Given the description of an element on the screen output the (x, y) to click on. 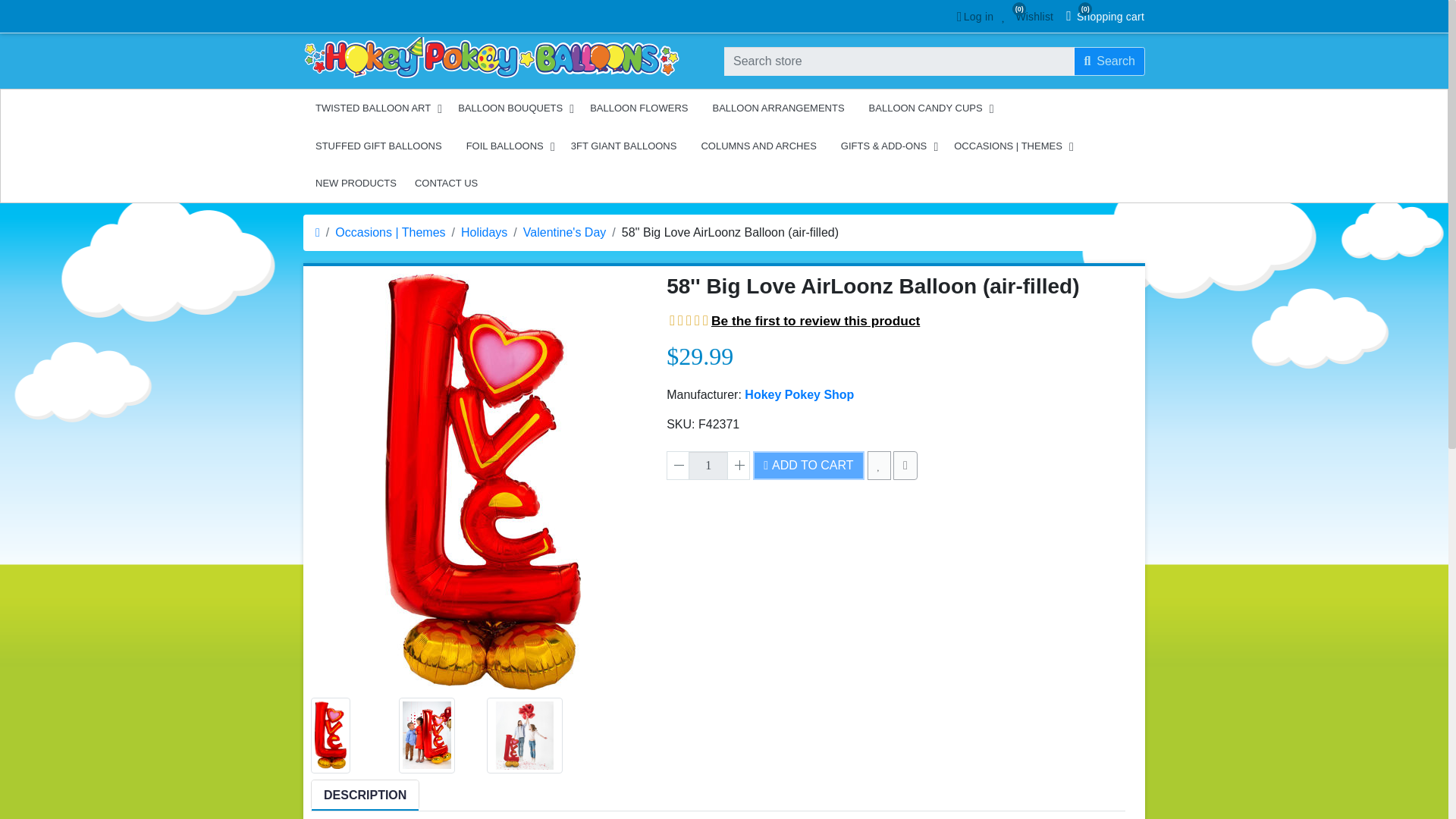
BALLOON BOUQUETS (511, 108)
Log in (1109, 61)
1 (972, 15)
Logo (707, 465)
TWISTED BALLOON ART (490, 57)
